Given the description of an element on the screen output the (x, y) to click on. 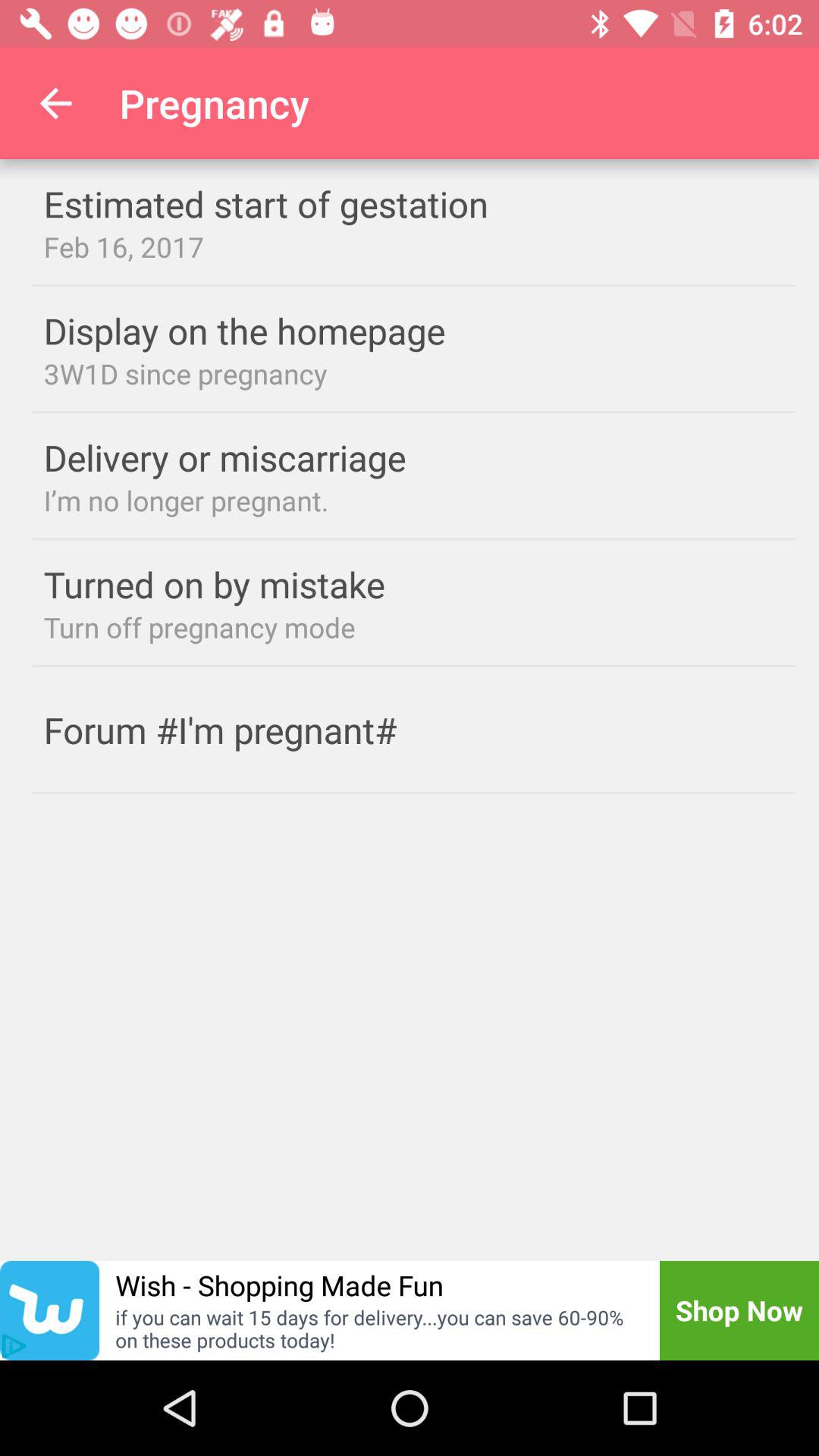
tap the turned on by (243, 584)
